Given the description of an element on the screen output the (x, y) to click on. 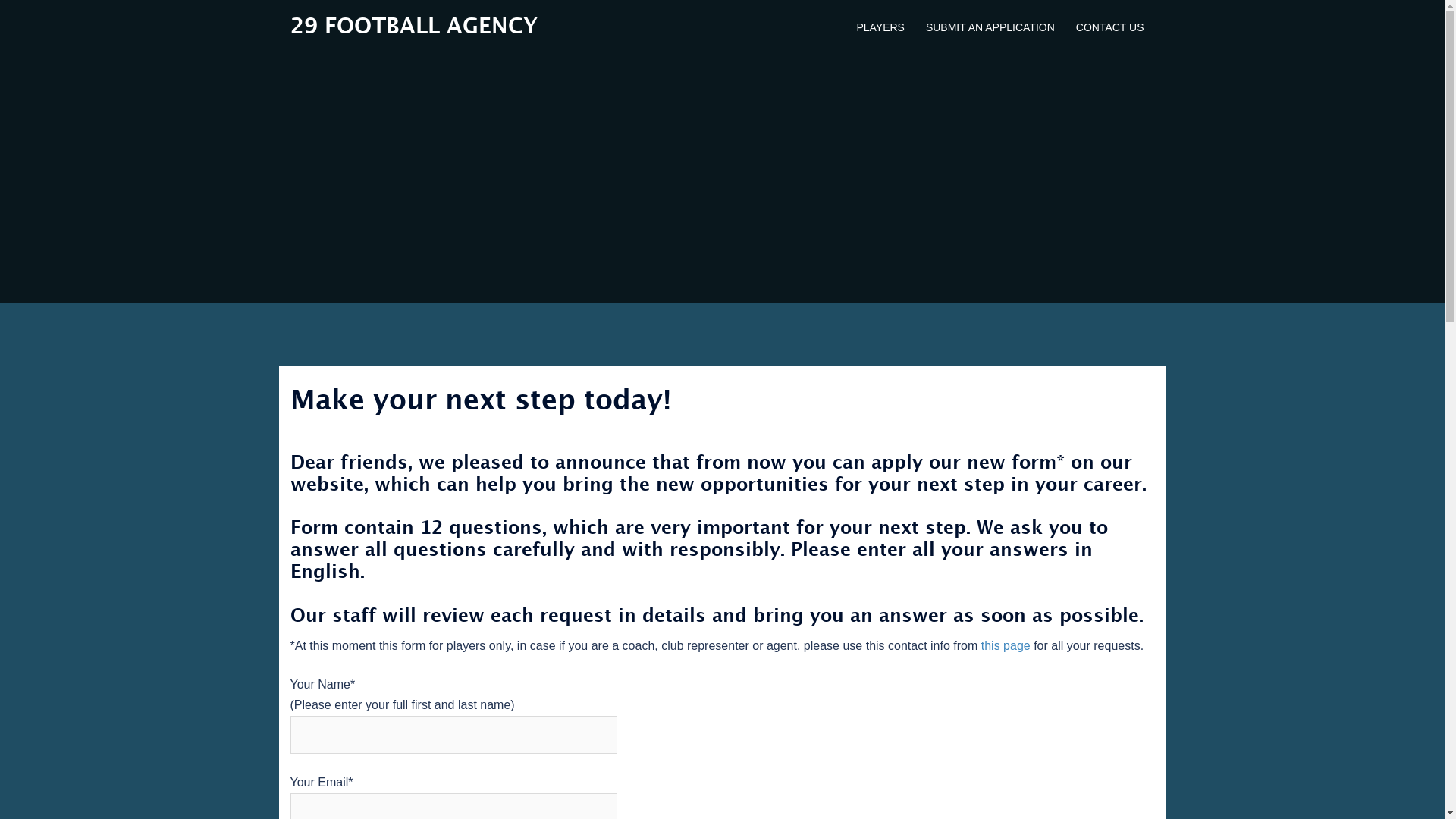
PLAYERS Element type: text (880, 27)
this page Element type: text (1005, 645)
CONTACT US Element type: text (1110, 27)
SUBMIT AN APPLICATION Element type: text (989, 27)
29 FOOTBALL AGENCY Element type: text (412, 27)
